Given the description of an element on the screen output the (x, y) to click on. 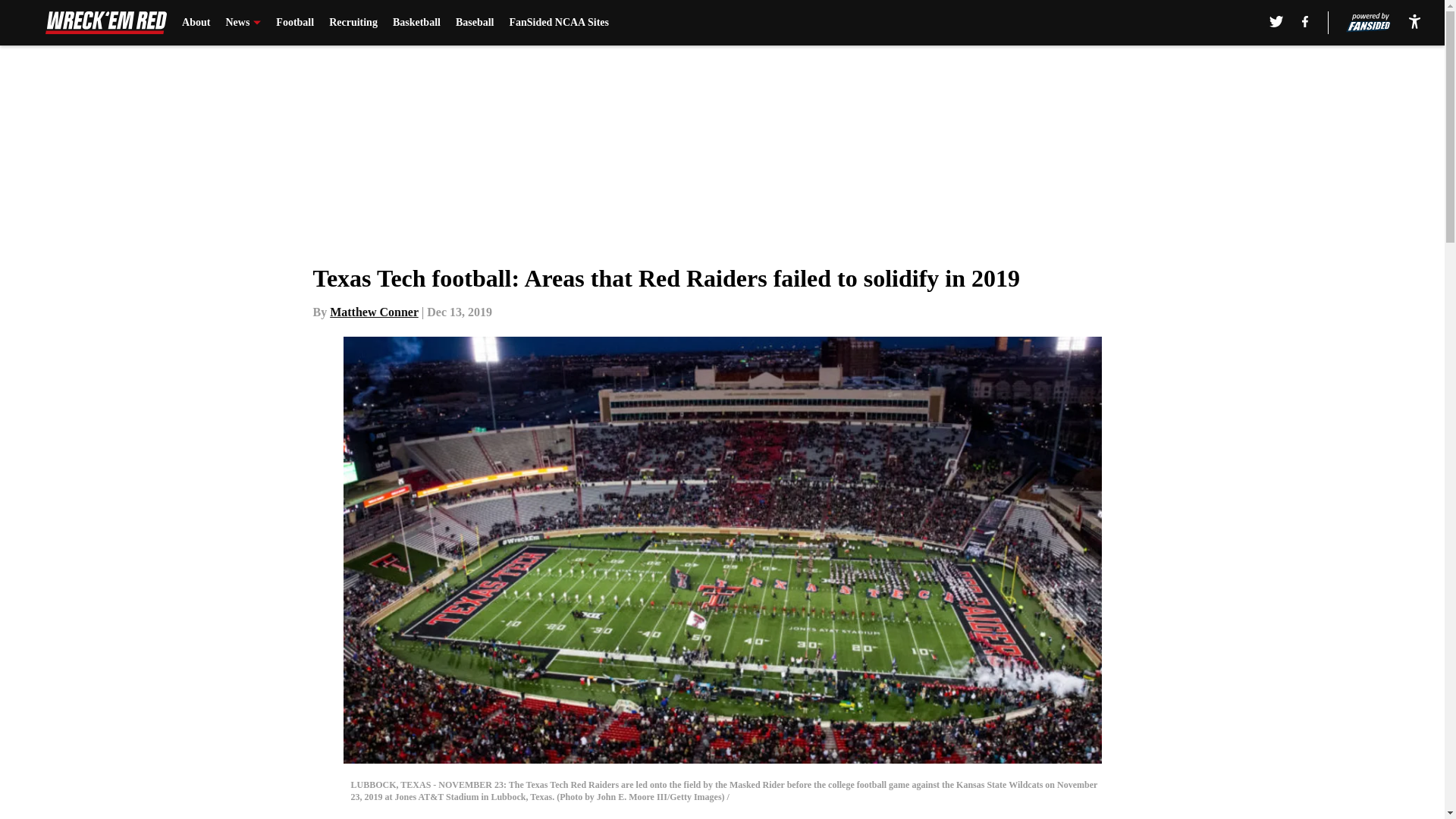
Matthew Conner (374, 311)
Baseball (475, 22)
Basketball (417, 22)
About (195, 22)
Football (295, 22)
FanSided NCAA Sites (558, 22)
Recruiting (353, 22)
